Given the description of an element on the screen output the (x, y) to click on. 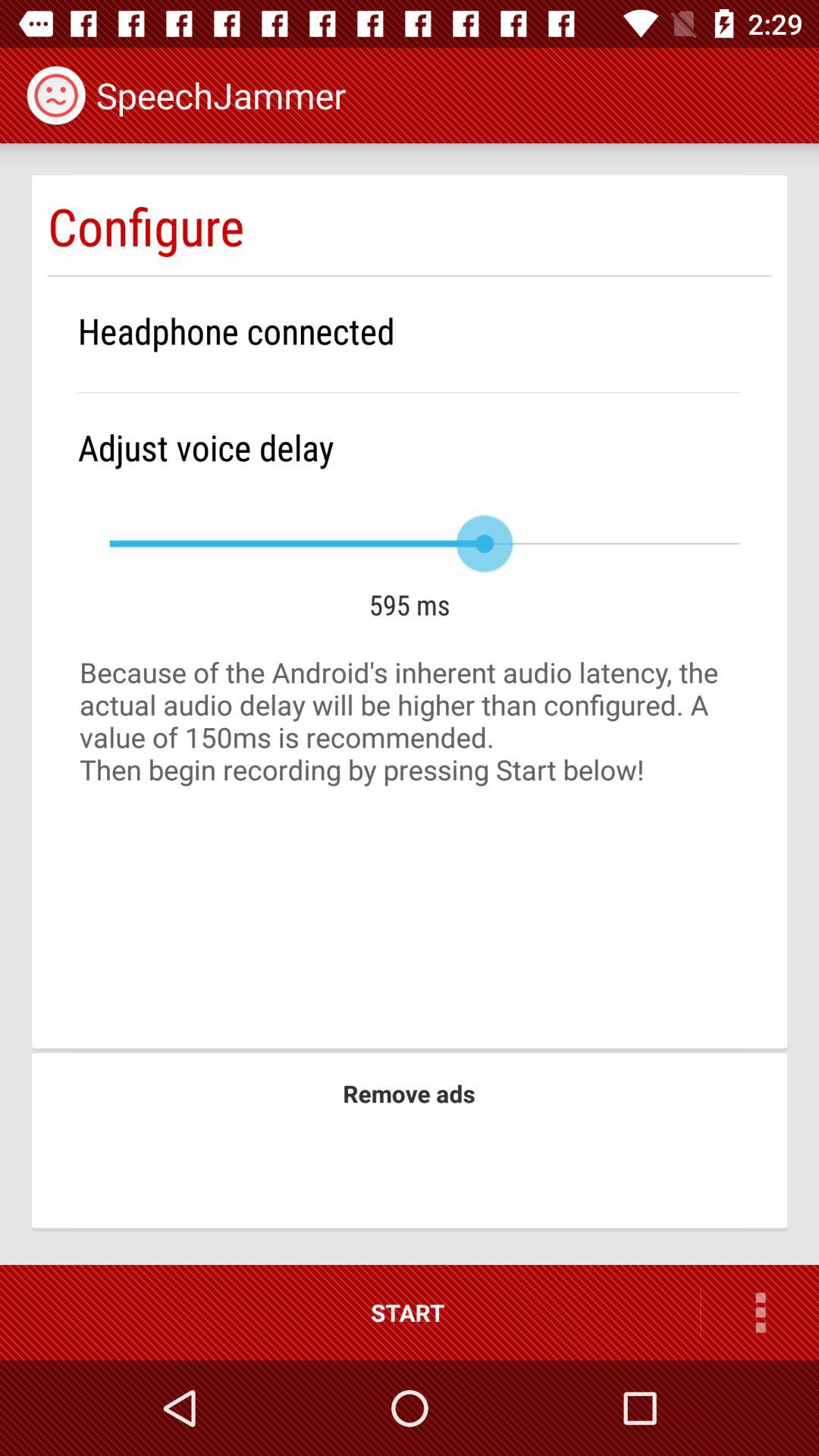
press the remove ads app (408, 1093)
